Given the description of an element on the screen output the (x, y) to click on. 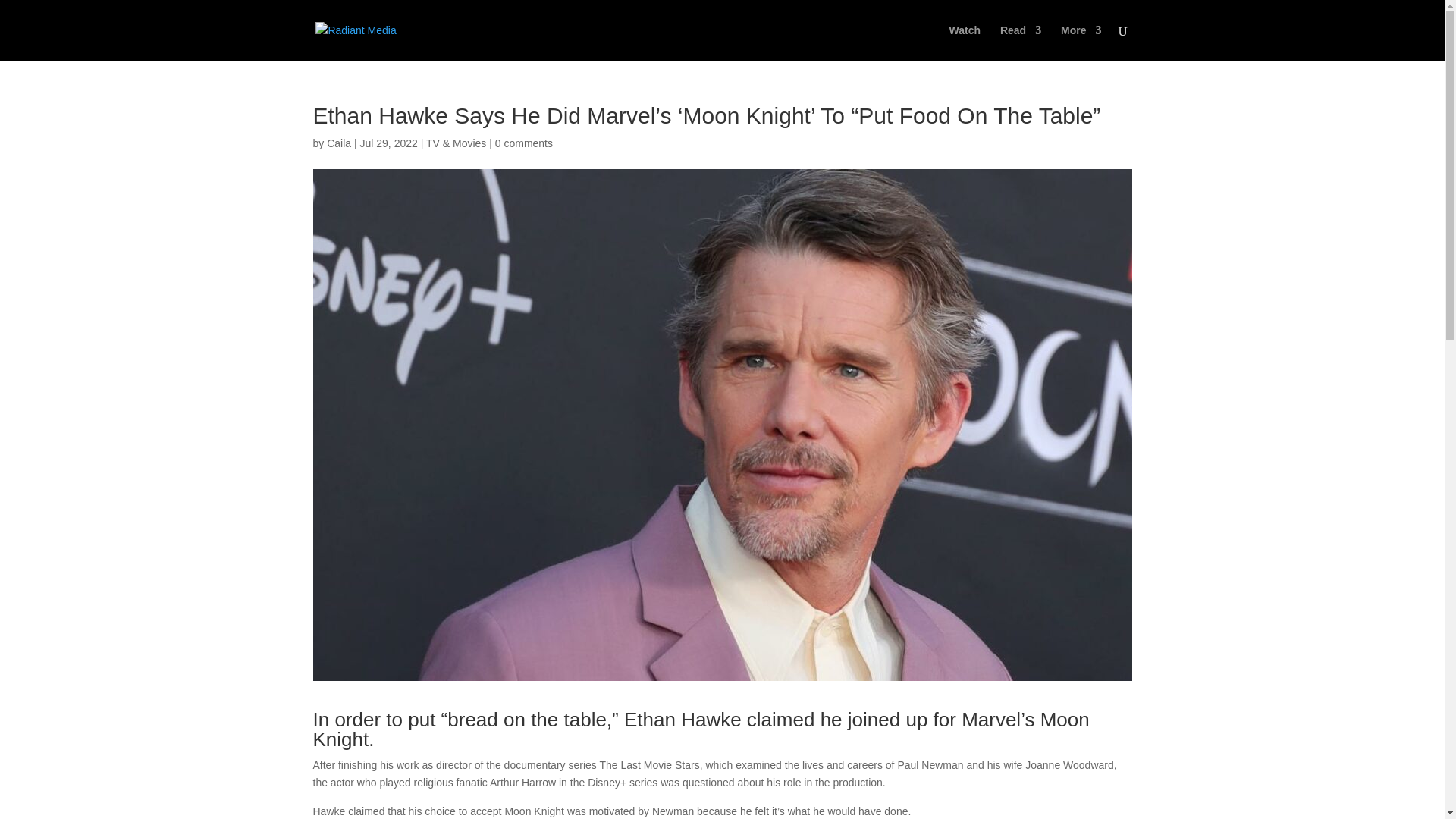
0 comments (524, 143)
Posts by Caila (338, 143)
Caila (338, 143)
Read (1020, 42)
Watch (964, 42)
More (1080, 42)
